Given the description of an element on the screen output the (x, y) to click on. 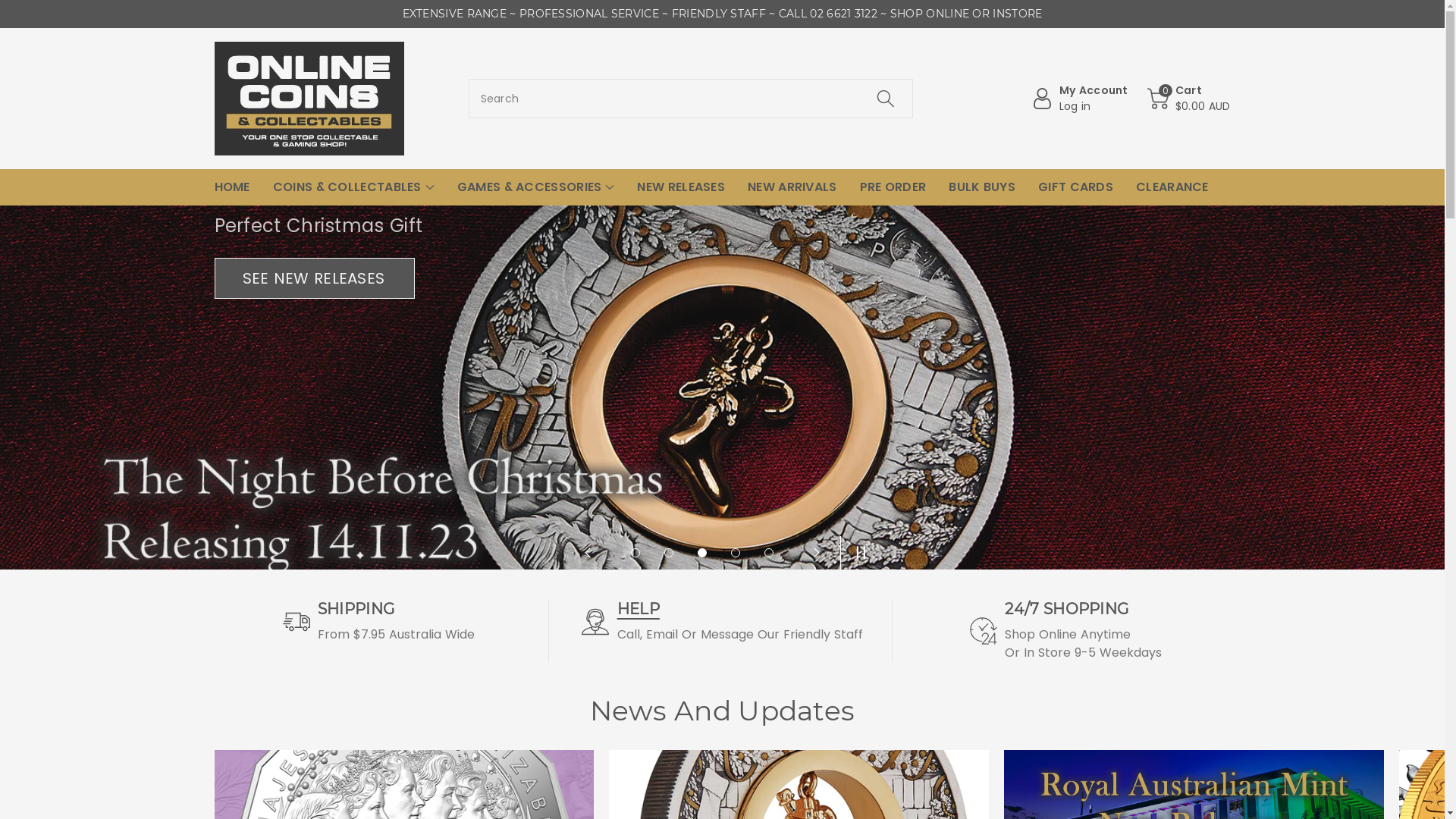
BULK BUYS Element type: text (981, 187)
HELP Element type: text (638, 608)
My Account
Log in Element type: text (1079, 98)
GIFT CARDS Element type: text (1075, 187)
HOME Element type: text (231, 187)
0
Cart
$0.00 AUD Element type: text (1188, 98)
NEW ARRIVALS Element type: text (792, 187)
PRE ORDER Element type: text (892, 187)
CLEARANCE Element type: text (1171, 187)
NEW RELEASES Element type: text (680, 187)
SHOP INTERCEPT CAPSULES Element type: text (346, 259)
